Given the description of an element on the screen output the (x, y) to click on. 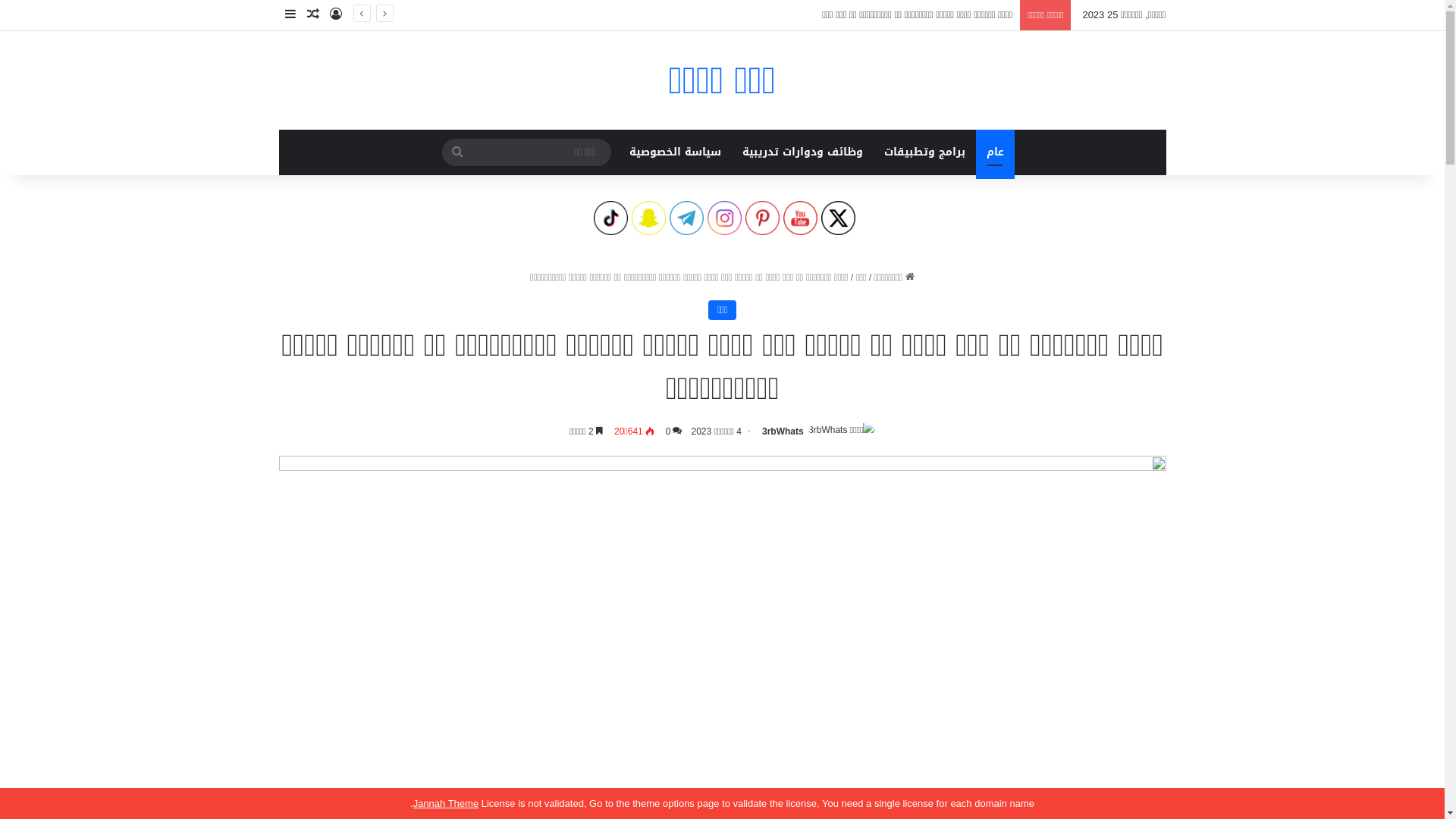
Twitter Element type: hover (837, 217)
3rbWhats Element type: text (782, 431)
Jannah Theme Element type: text (446, 803)
YouTube Element type: hover (799, 217)
Telegram Element type: hover (685, 217)
Instagram Element type: hover (723, 217)
